Given the description of an element on the screen output the (x, y) to click on. 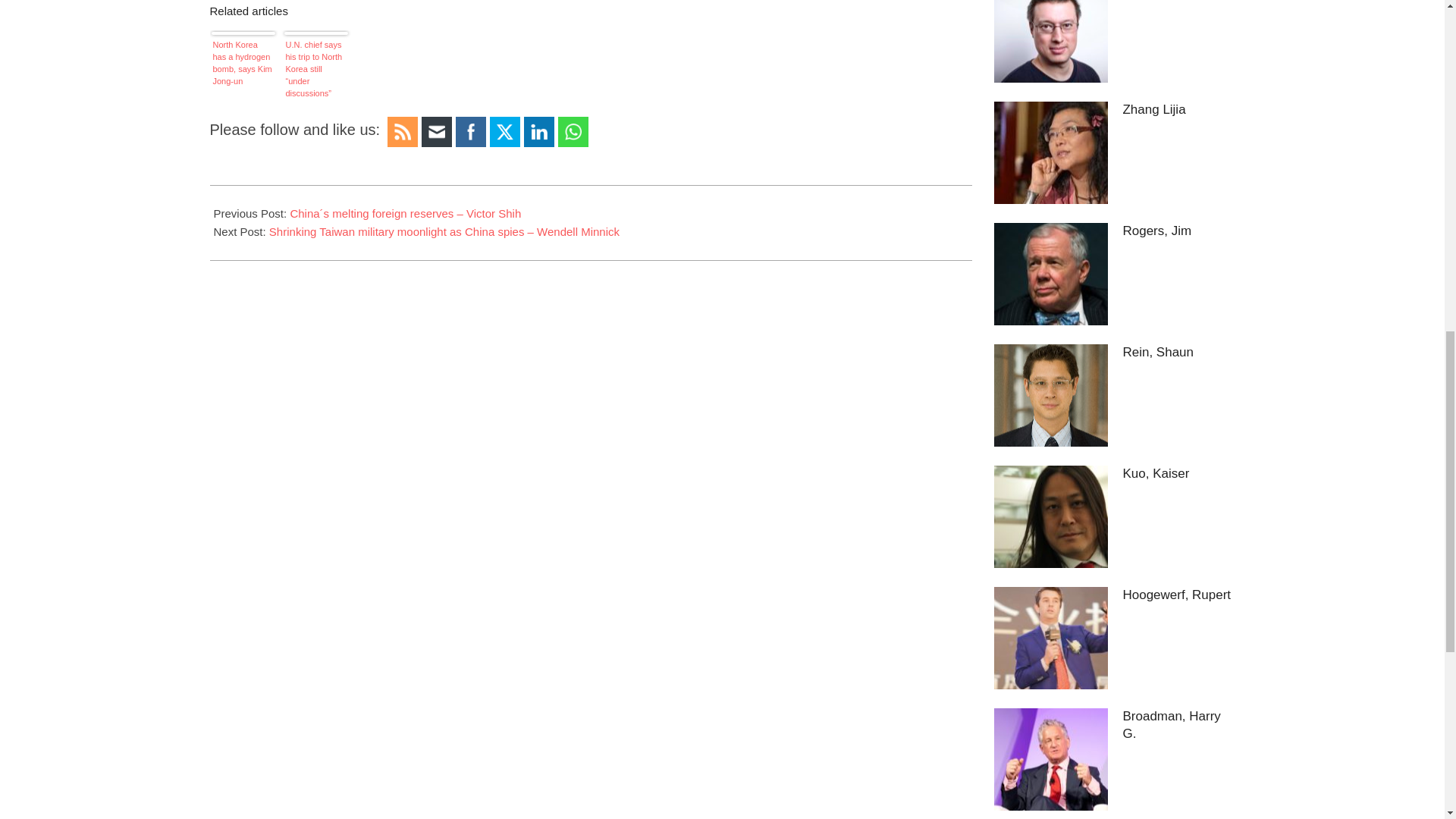
Facebook (471, 131)
Follow by Email (436, 131)
RSS (402, 131)
LinkedIn (539, 131)
Twitter (504, 131)
North Korea has a hydrogen bomb, says Kim Jong-un (243, 68)
